Given the description of an element on the screen output the (x, y) to click on. 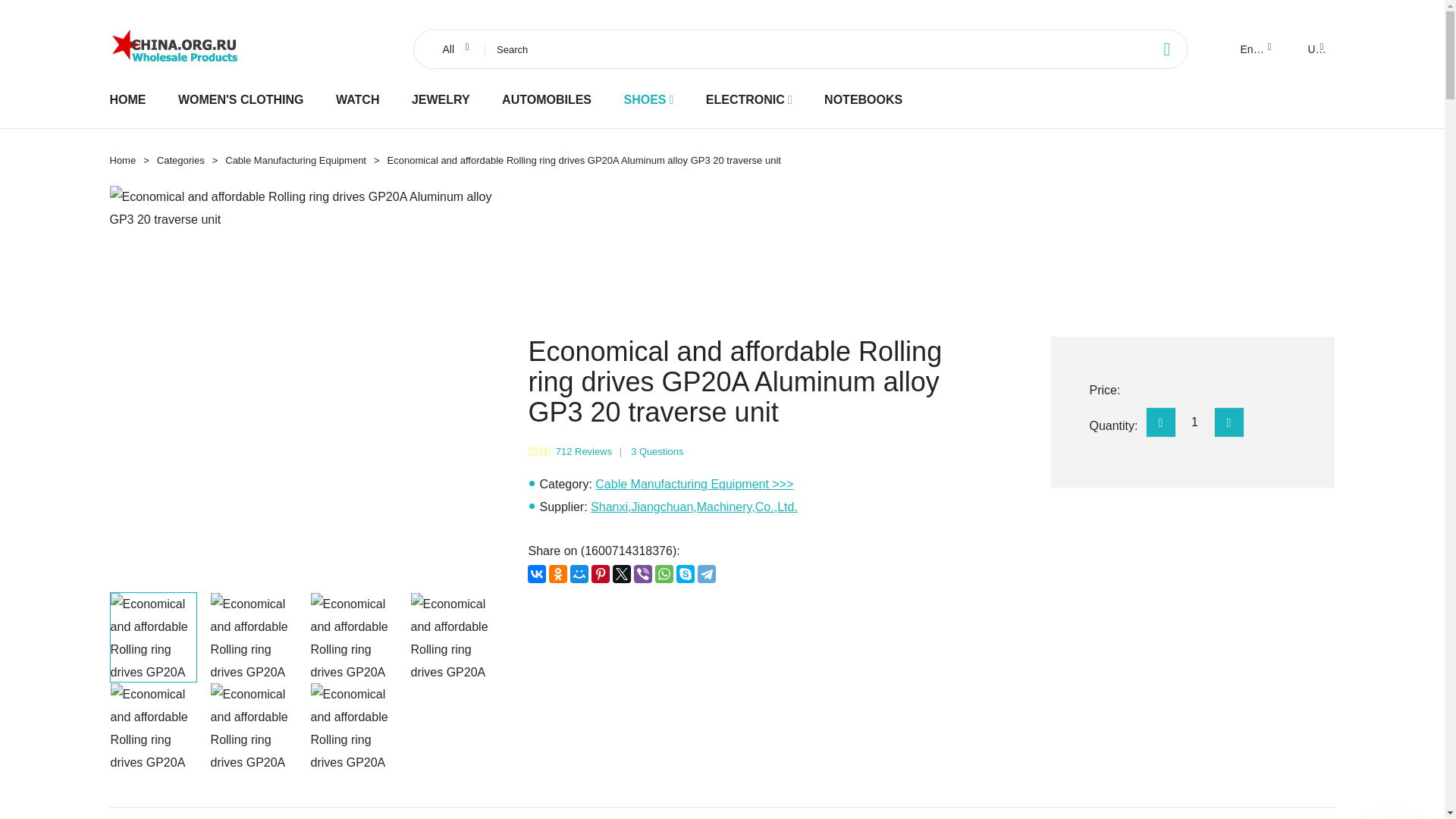
Viber (642, 574)
Home (122, 160)
WATCH (357, 99)
USD (1314, 48)
Cable Manufacturing Equipment (295, 160)
NOTEBOOKS (863, 99)
ELECTRONIC (745, 99)
Telegram (706, 574)
All (454, 48)
Pinterest (600, 574)
Skype (685, 574)
1 (1194, 422)
HOME (127, 99)
3 Questions (656, 451)
English (1253, 48)
